Given the description of an element on the screen output the (x, y) to click on. 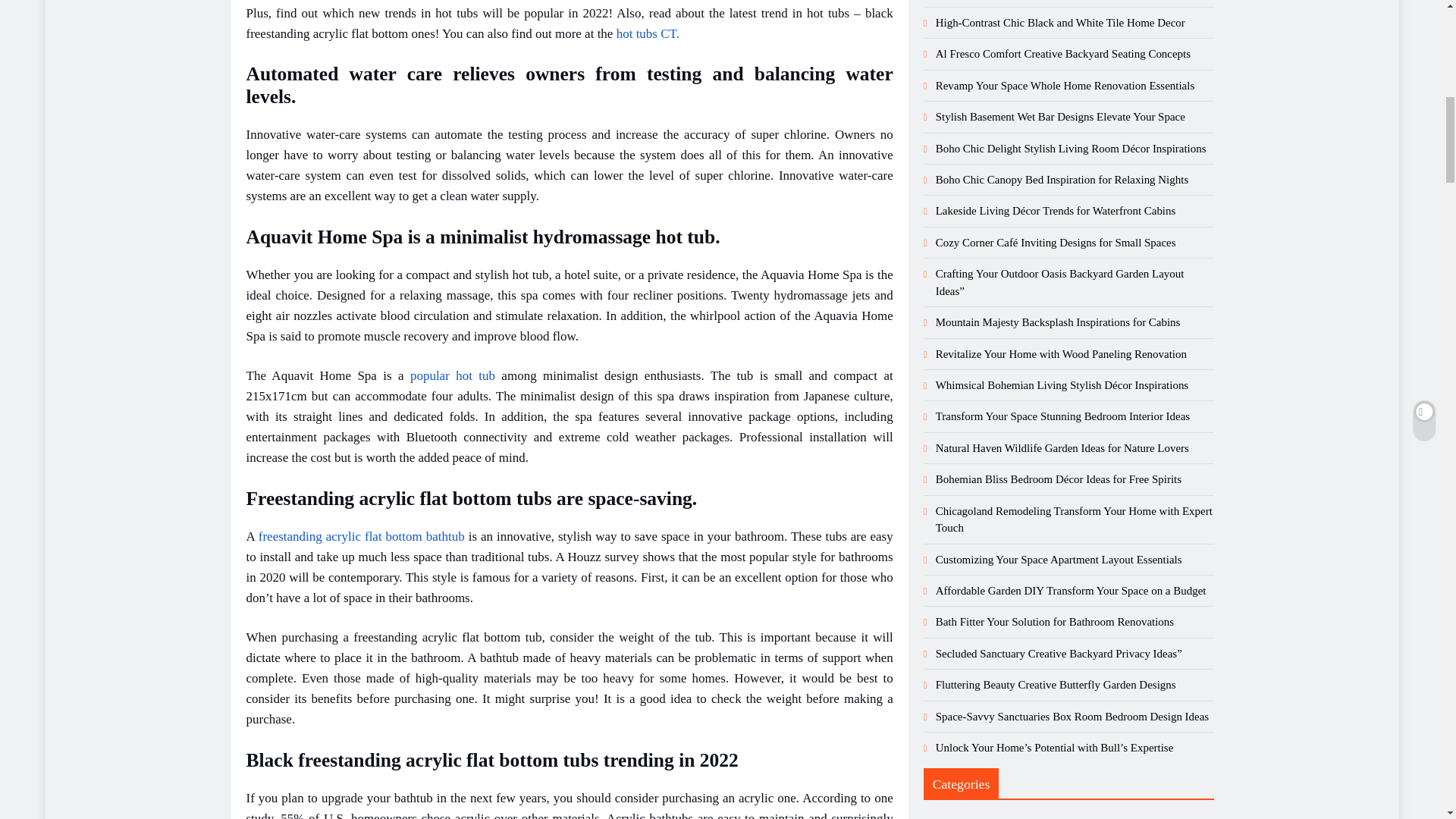
popular hot tub (452, 375)
hot tubs CT. (647, 32)
freestanding acrylic flat bottom bathtub (363, 536)
